Given the description of an element on the screen output the (x, y) to click on. 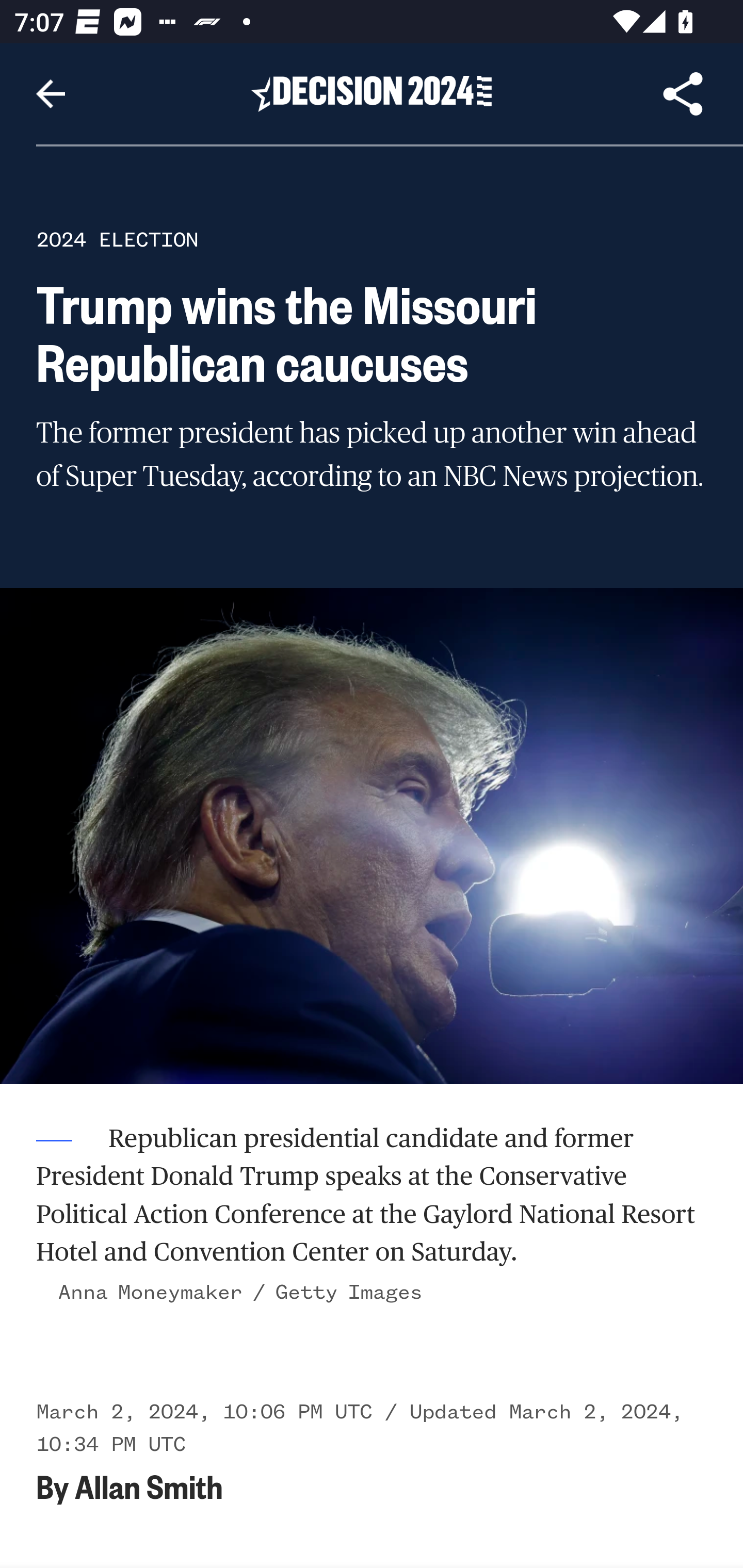
Navigate up (50, 93)
Share Article, button (683, 94)
Header, Decision 2024 (371, 93)
2024 ELECTION (117, 239)
